Given the description of an element on the screen output the (x, y) to click on. 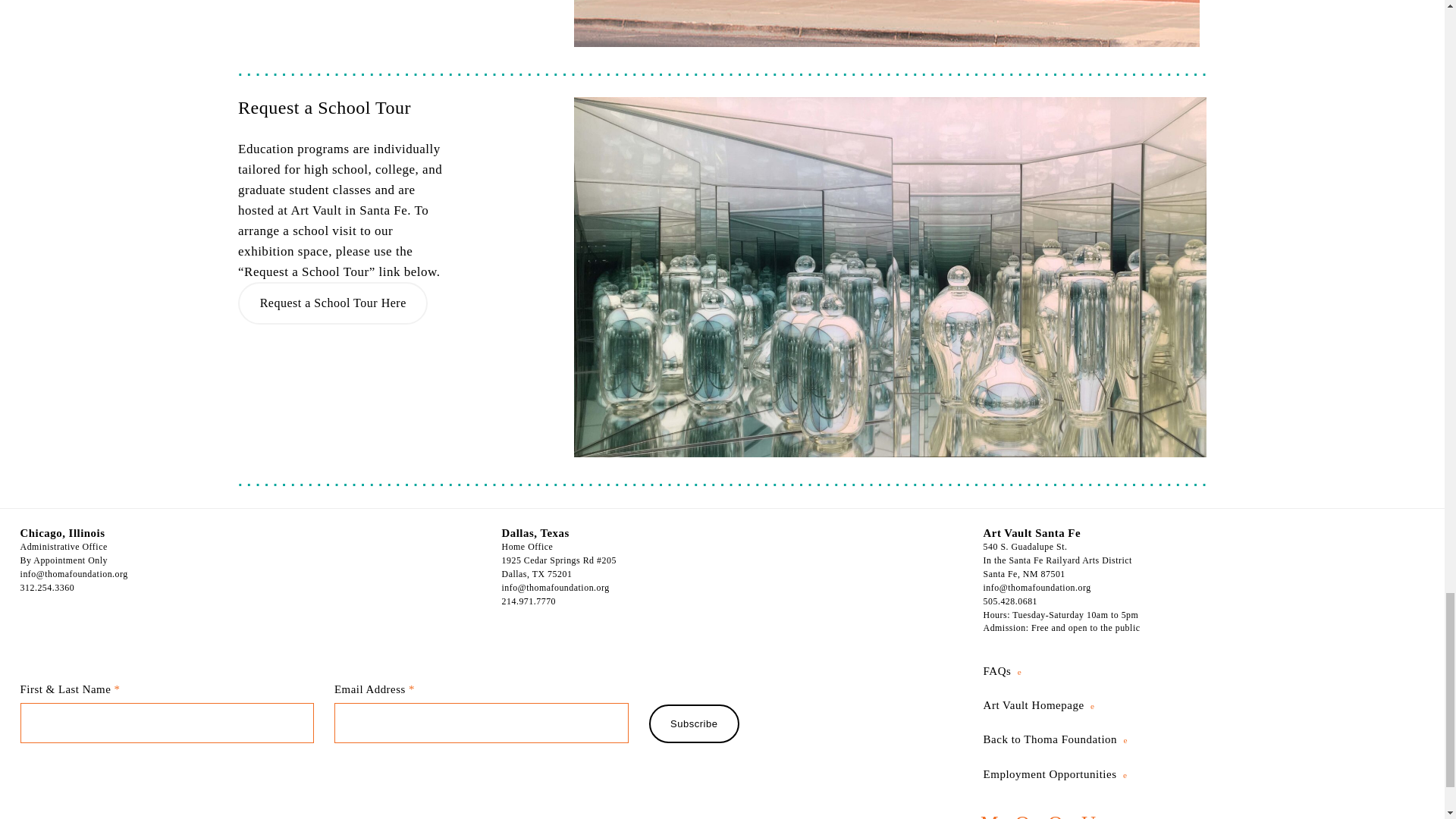
Subscribe (694, 723)
Request a School Tour Here (333, 302)
FAQs (1003, 671)
Employment Opportunities (1055, 774)
Back to Thoma Foundation (1055, 739)
Art Vault Homepage (1039, 704)
Subscribe (694, 723)
